Given the description of an element on the screen output the (x, y) to click on. 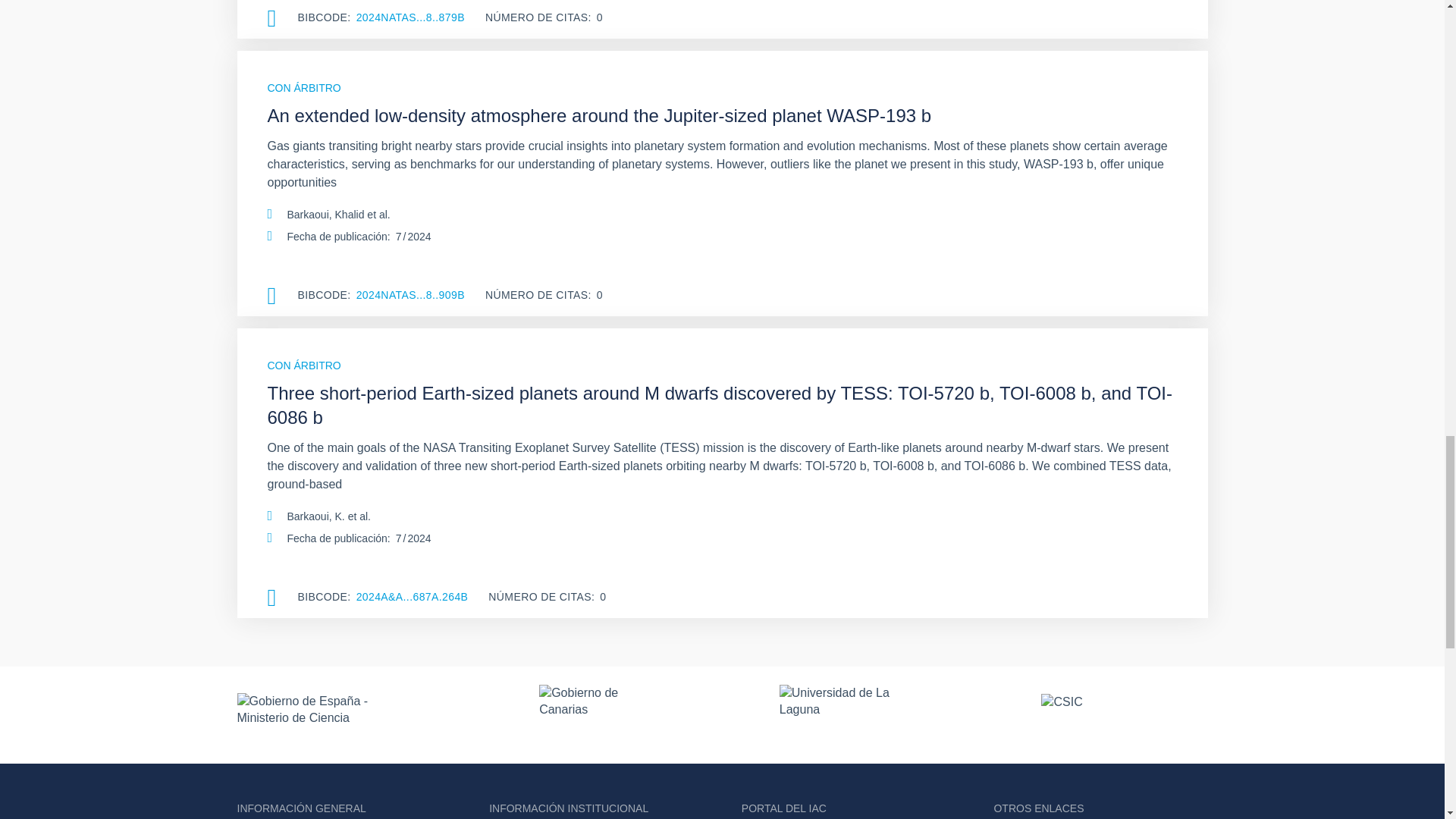
Universidad de La Laguna (842, 714)
CSIC (1124, 714)
Gobierno de Canarias (591, 714)
